Given the description of an element on the screen output the (x, y) to click on. 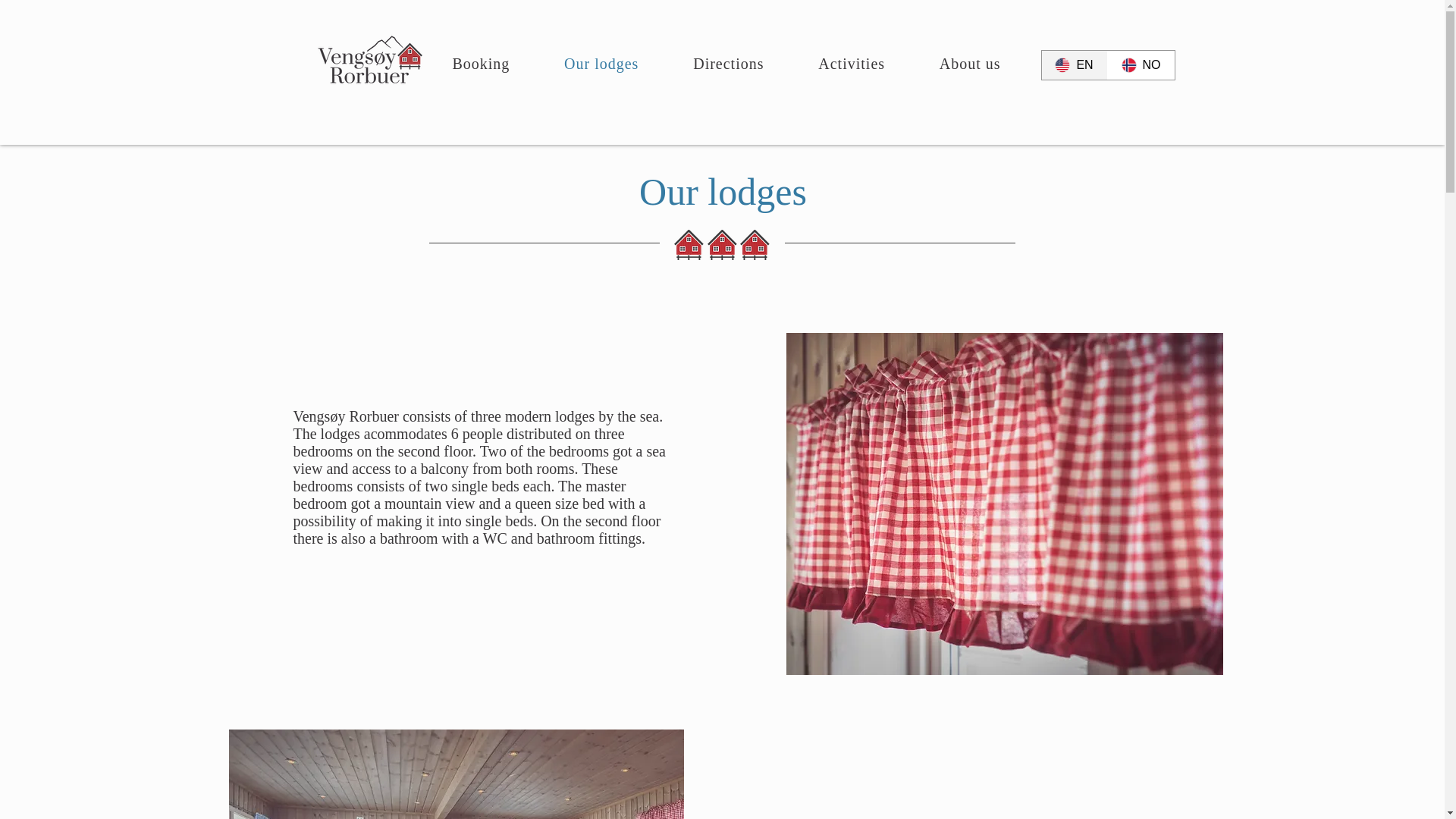
Booking (481, 63)
Our lodges (601, 63)
NO (1140, 64)
Activities (851, 63)
About us (970, 63)
EN (1074, 64)
Directions (728, 63)
